Given the description of an element on the screen output the (x, y) to click on. 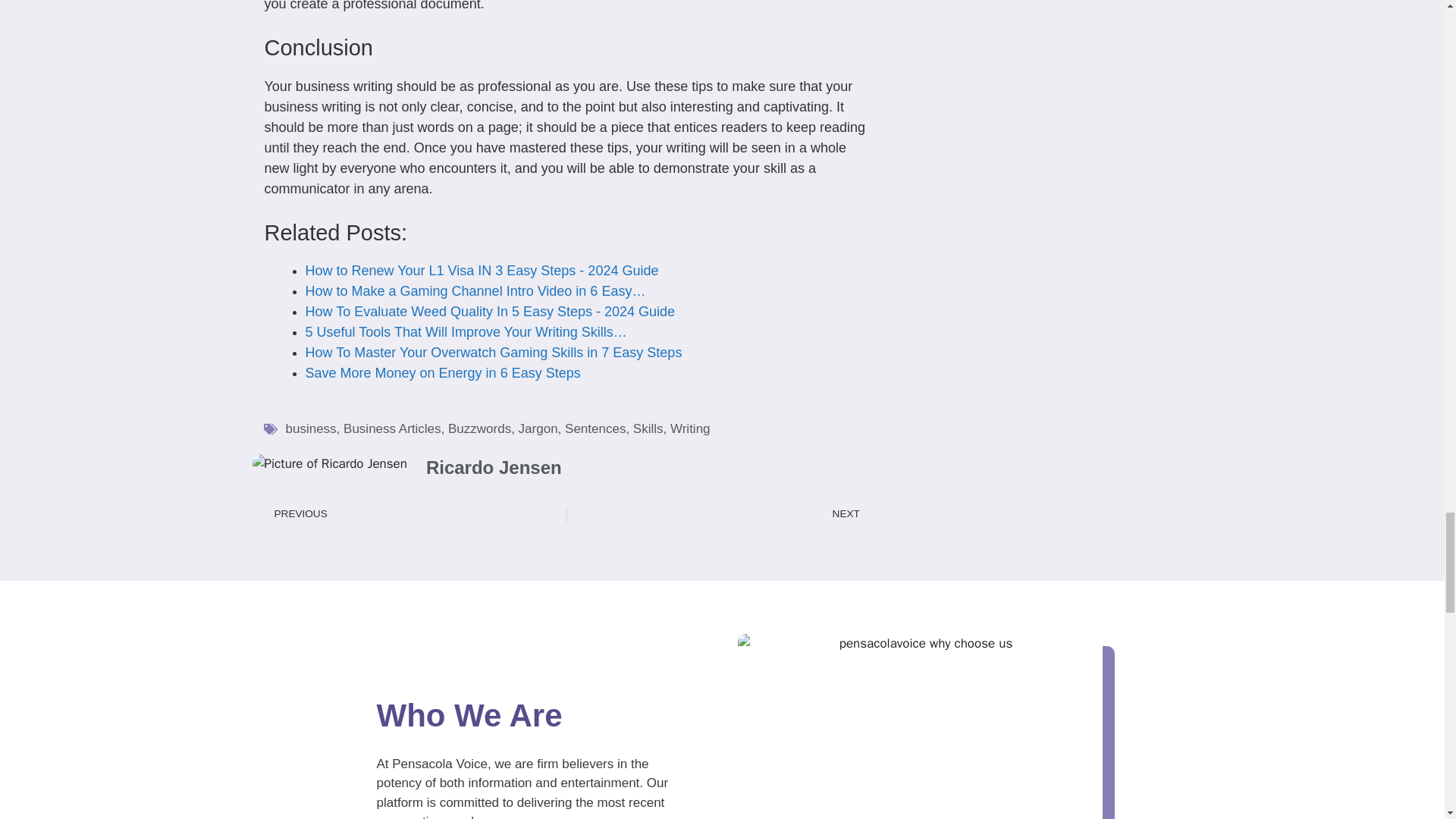
Buzzwords (479, 428)
Skills (648, 428)
PREVIOUS (414, 513)
How to Renew Your L1 Visa IN 3 Easy Steps - 2024 Guide (481, 270)
Sentences (595, 428)
Writing (689, 428)
How To Evaluate Weed Quality In 5 Easy Steps - 2024 Guide (489, 311)
Business Articles (392, 428)
Jargon (537, 428)
Save More Money on Energy in 6 Easy Steps (441, 372)
